Given the description of an element on the screen output the (x, y) to click on. 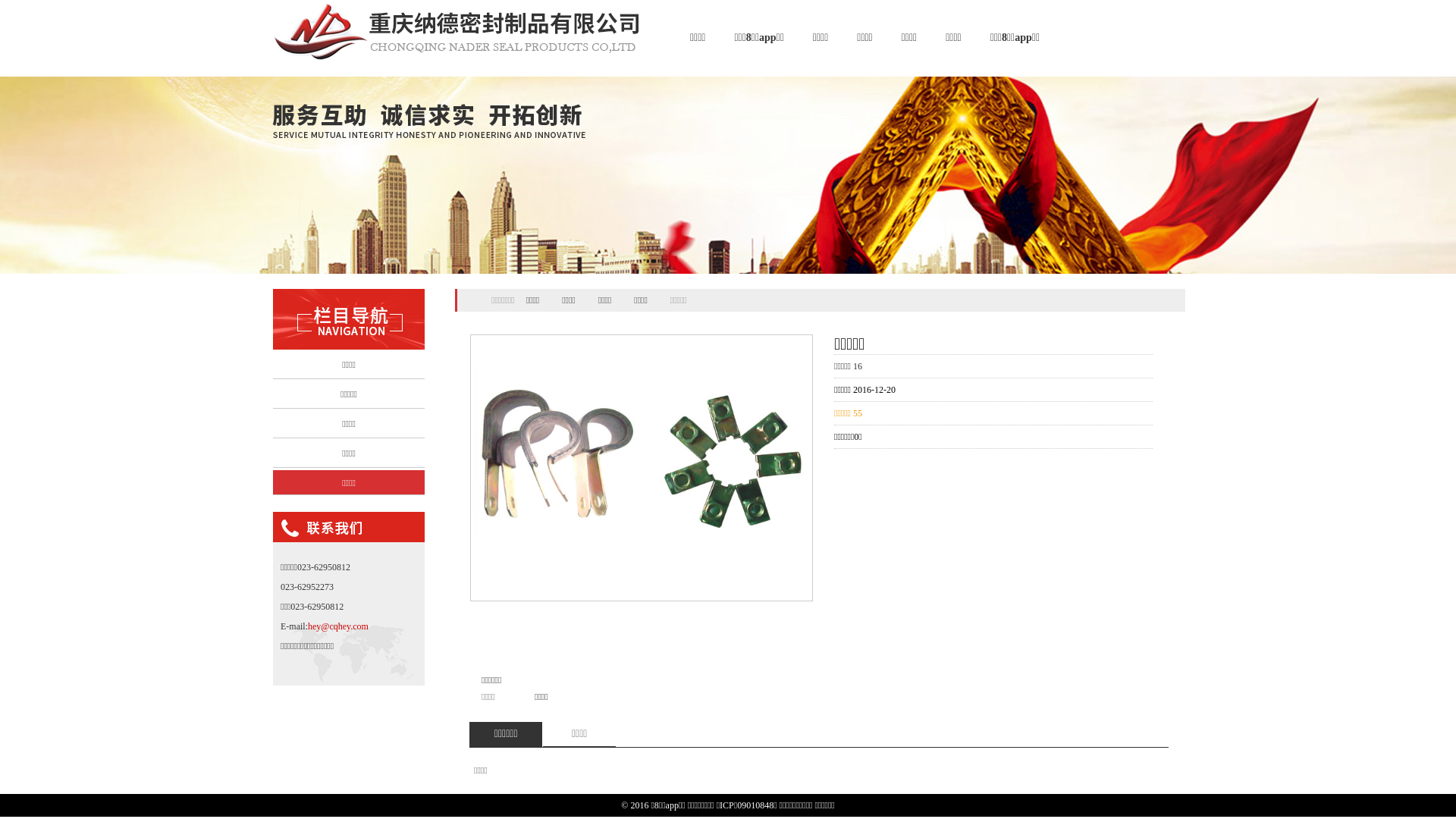
hey@cqhey.com Element type: text (337, 626)
